Given the description of an element on the screen output the (x, y) to click on. 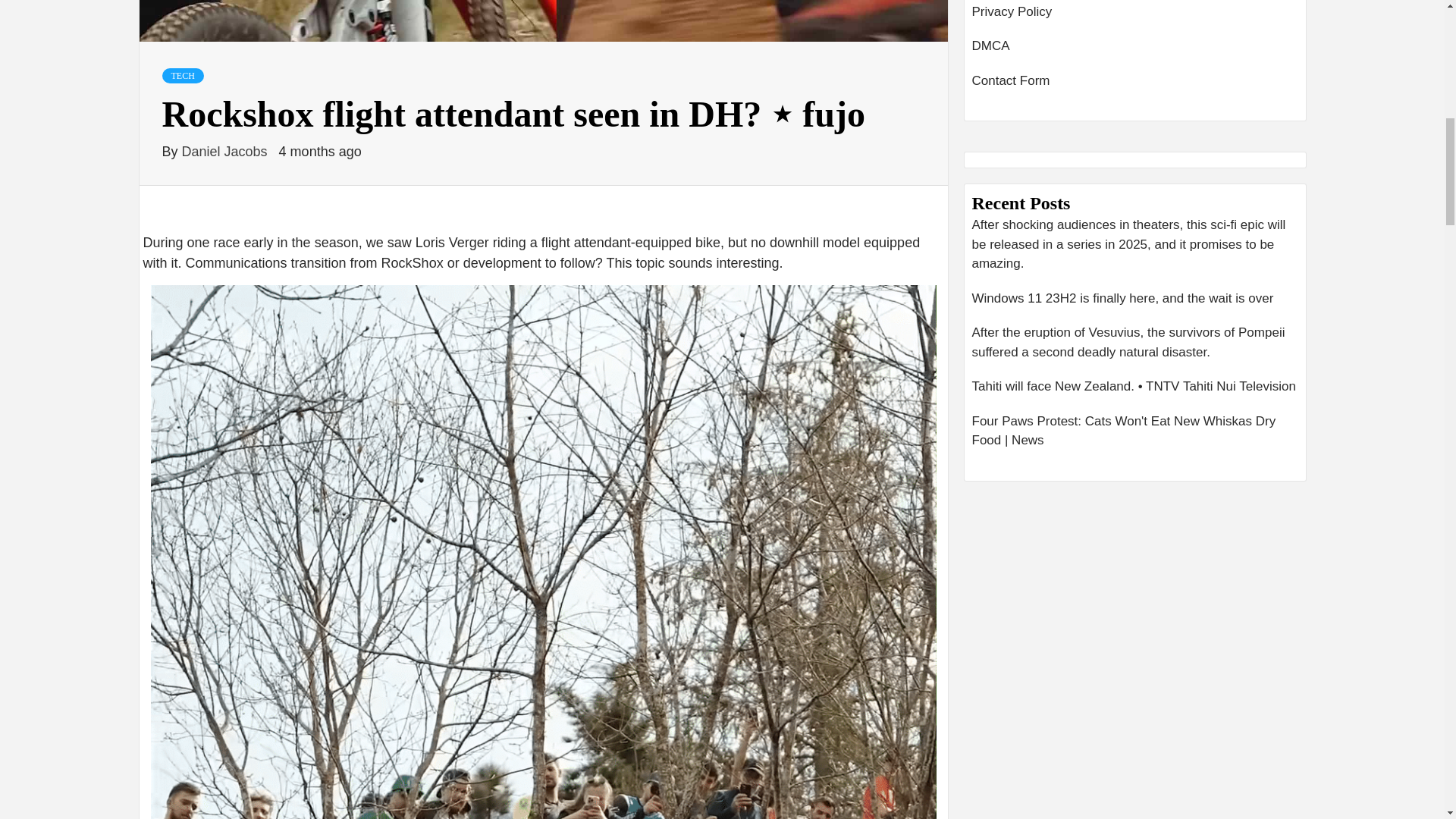
Daniel Jacobs (226, 151)
TECH (182, 75)
